Given the description of an element on the screen output the (x, y) to click on. 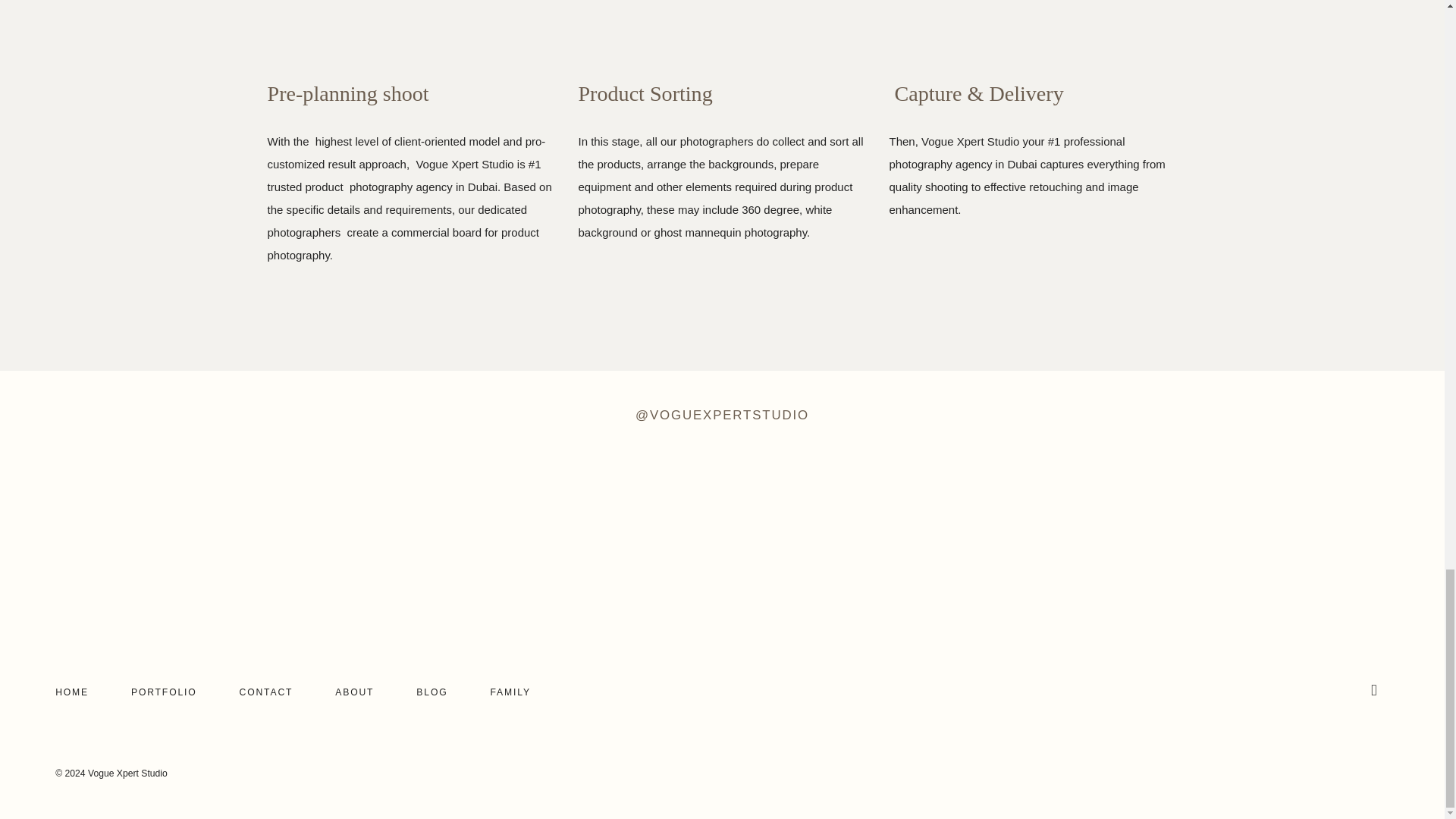
HOME (71, 692)
ABOUT (354, 692)
CONTACT (267, 692)
PORTFOLIO (163, 692)
BLOG (431, 692)
